Given the description of an element on the screen output the (x, y) to click on. 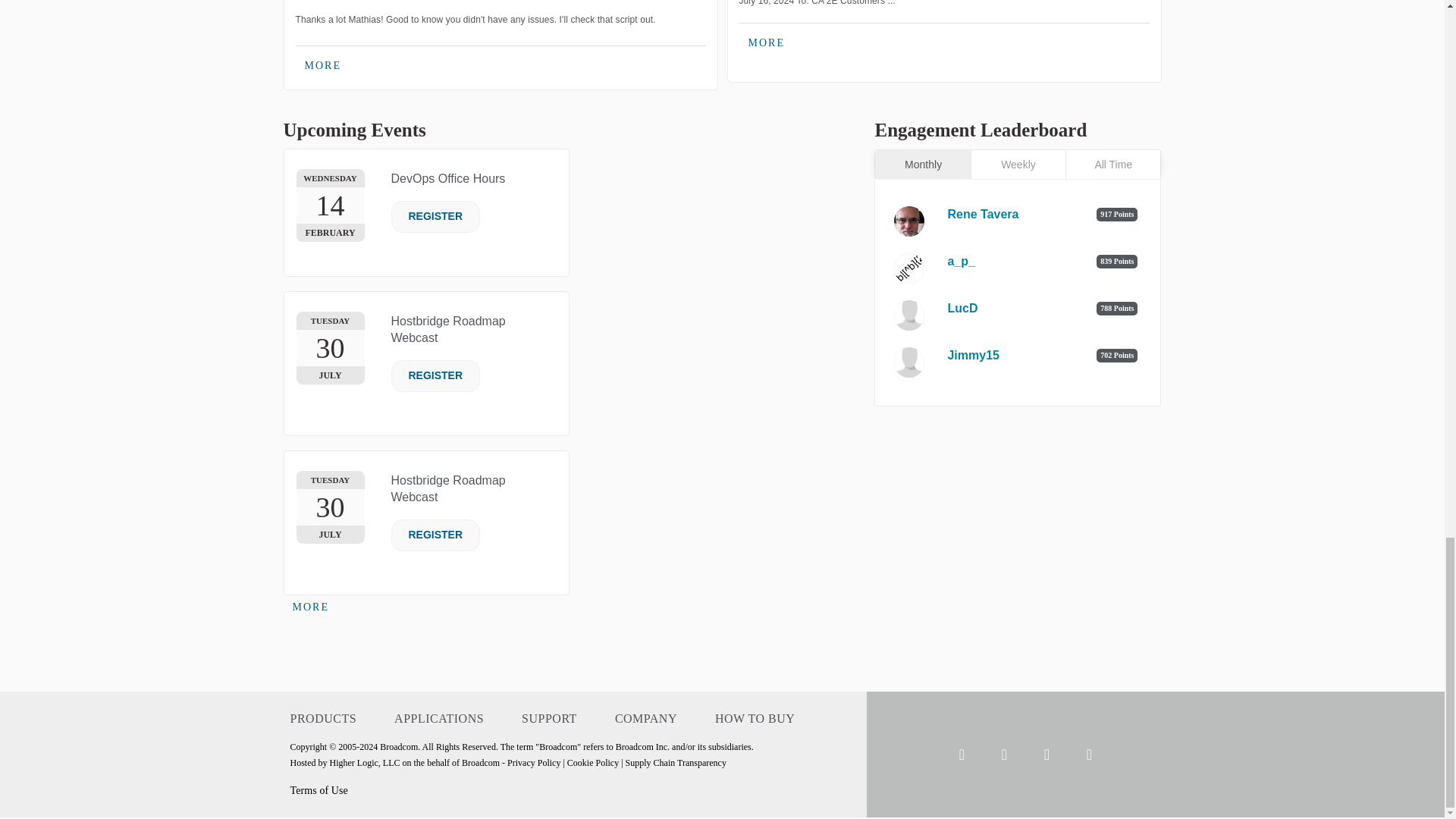
More (322, 65)
More (310, 607)
DevOps Office  Hours (448, 178)
Hostbridge Roadmap Webcast (448, 488)
View All Blog Posts (765, 43)
Hostbridge Roadmap Webcast (448, 328)
